Given the description of an element on the screen output the (x, y) to click on. 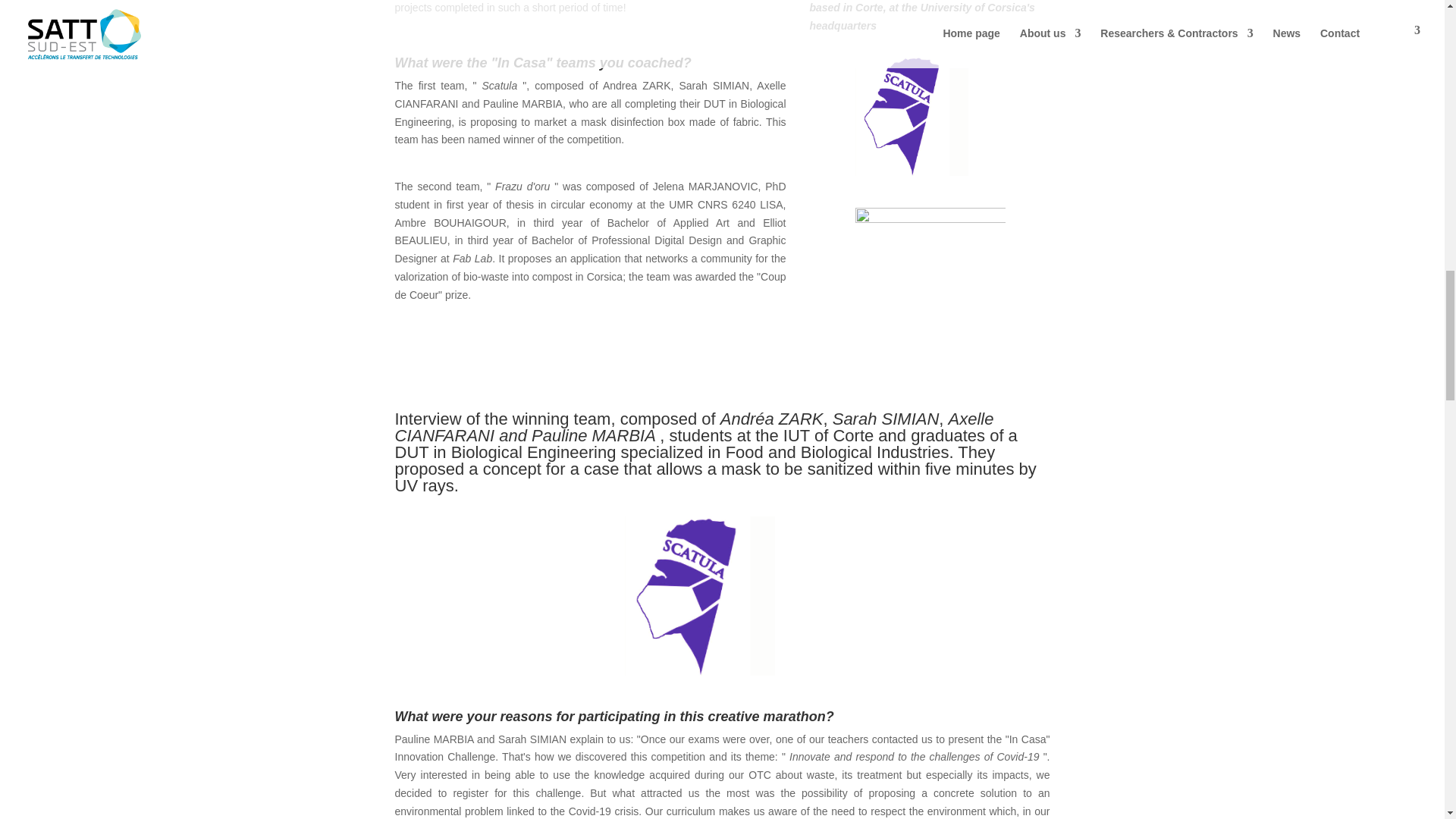
Frazu doru (930, 249)
Scatula (699, 595)
Scatula (912, 116)
